Given the description of an element on the screen output the (x, y) to click on. 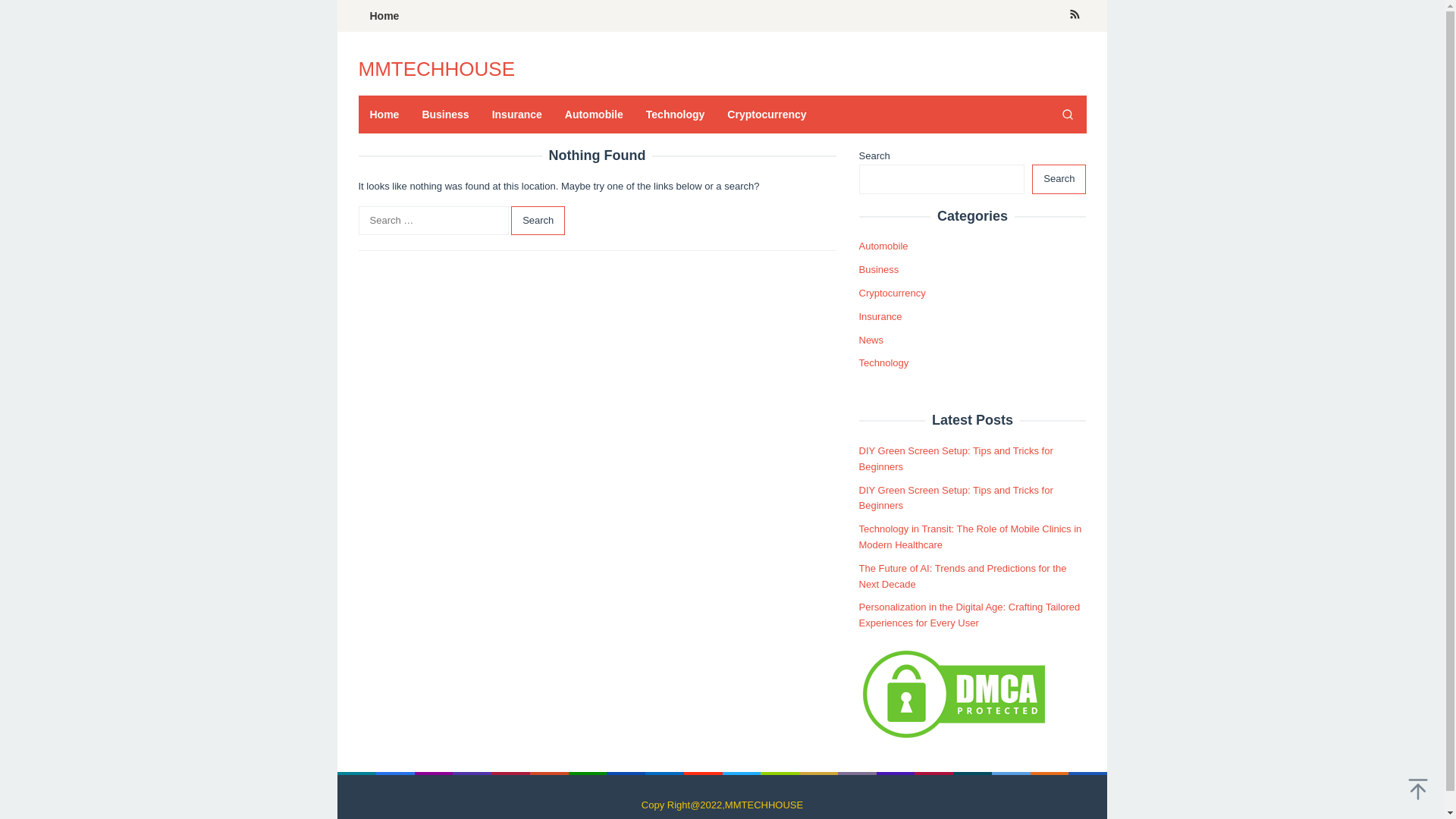
Automobile (593, 114)
Search (1067, 114)
News (871, 339)
Cryptocurrency (891, 292)
Business (445, 114)
Search (1059, 179)
Technology (675, 114)
Cryptocurrency (766, 114)
Search (537, 220)
Search (537, 220)
